Given the description of an element on the screen output the (x, y) to click on. 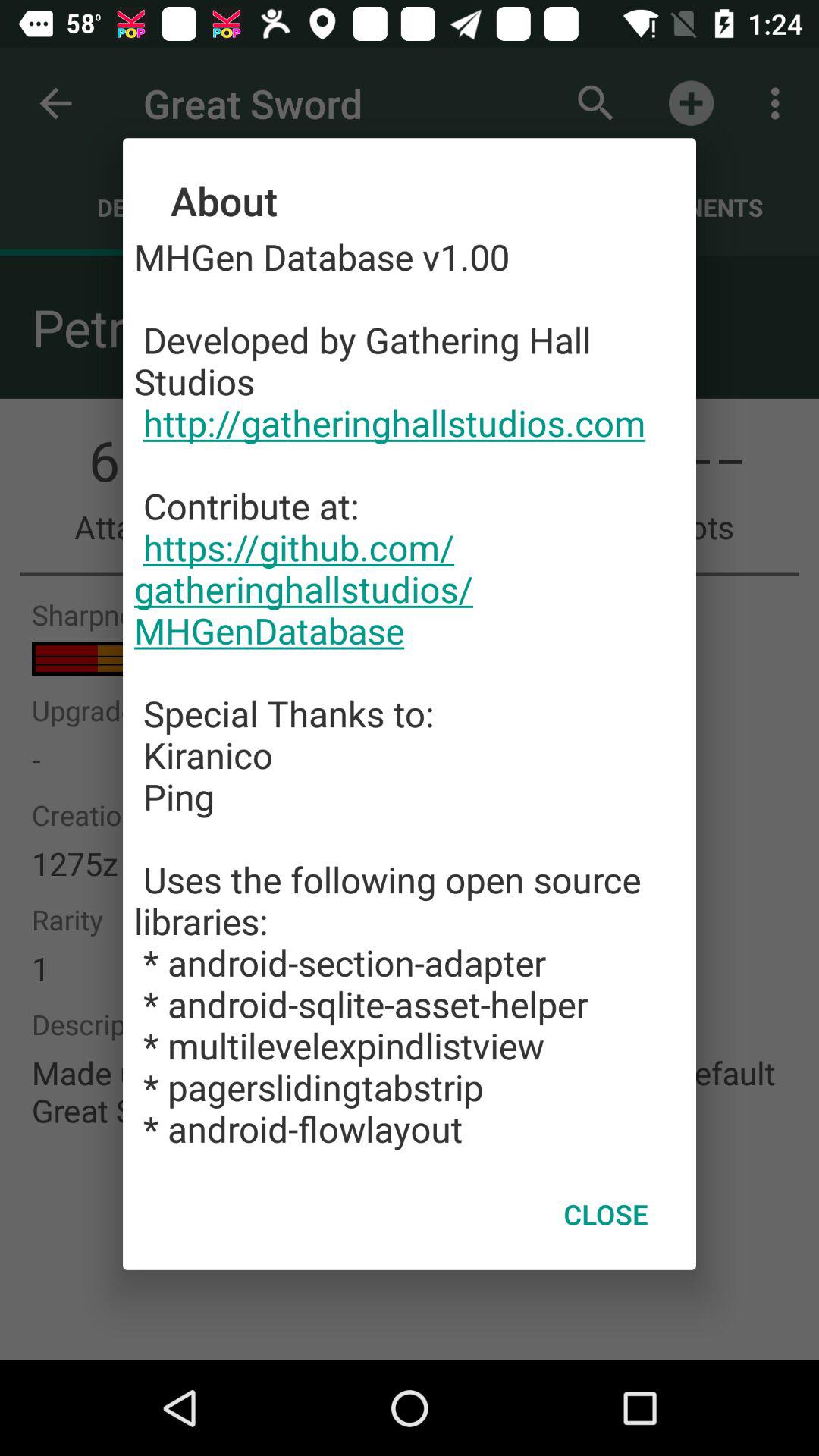
jump until close icon (605, 1214)
